Given the description of an element on the screen output the (x, y) to click on. 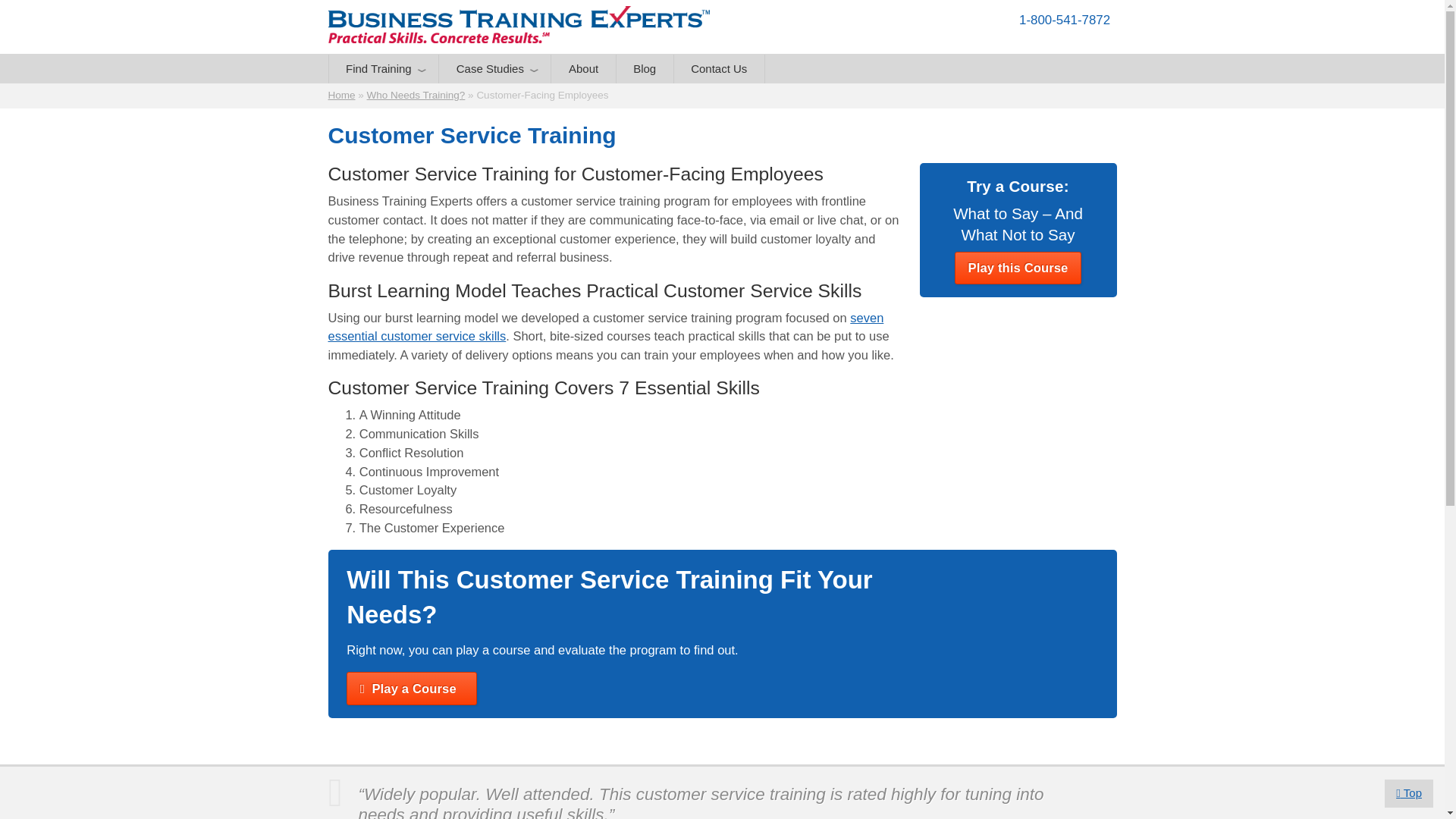
 Play a Course   (411, 688)
Blog (643, 68)
Who Needs Training? (415, 94)
Case Studies (494, 68)
Contact Us (719, 68)
Back to top (1408, 793)
seven essential customer service skills (605, 327)
Home (341, 94)
Find Training (384, 68)
About (582, 68)
